Given the description of an element on the screen output the (x, y) to click on. 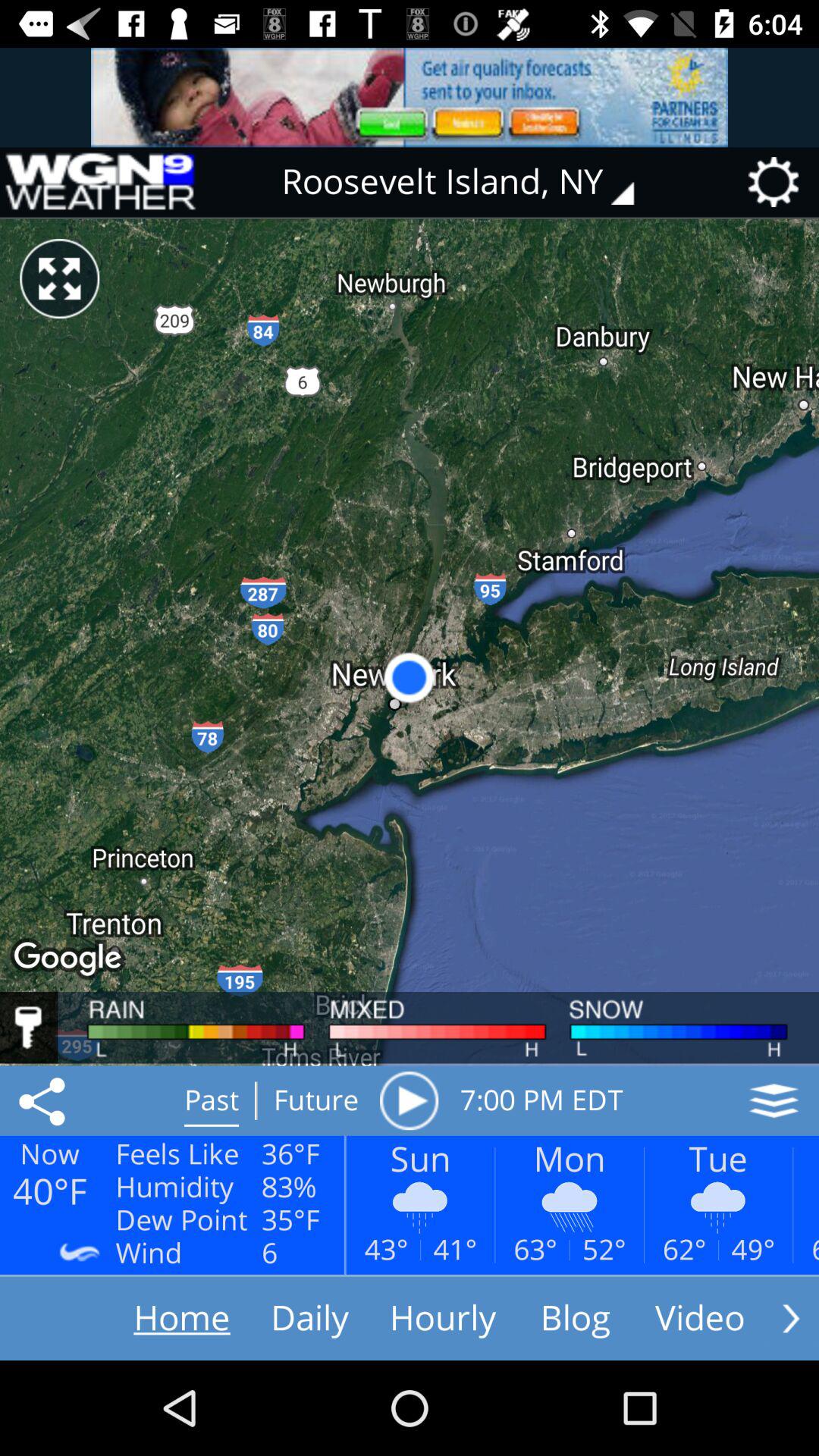
select the item next to the 7 00 pm (409, 1100)
